Given the description of an element on the screen output the (x, y) to click on. 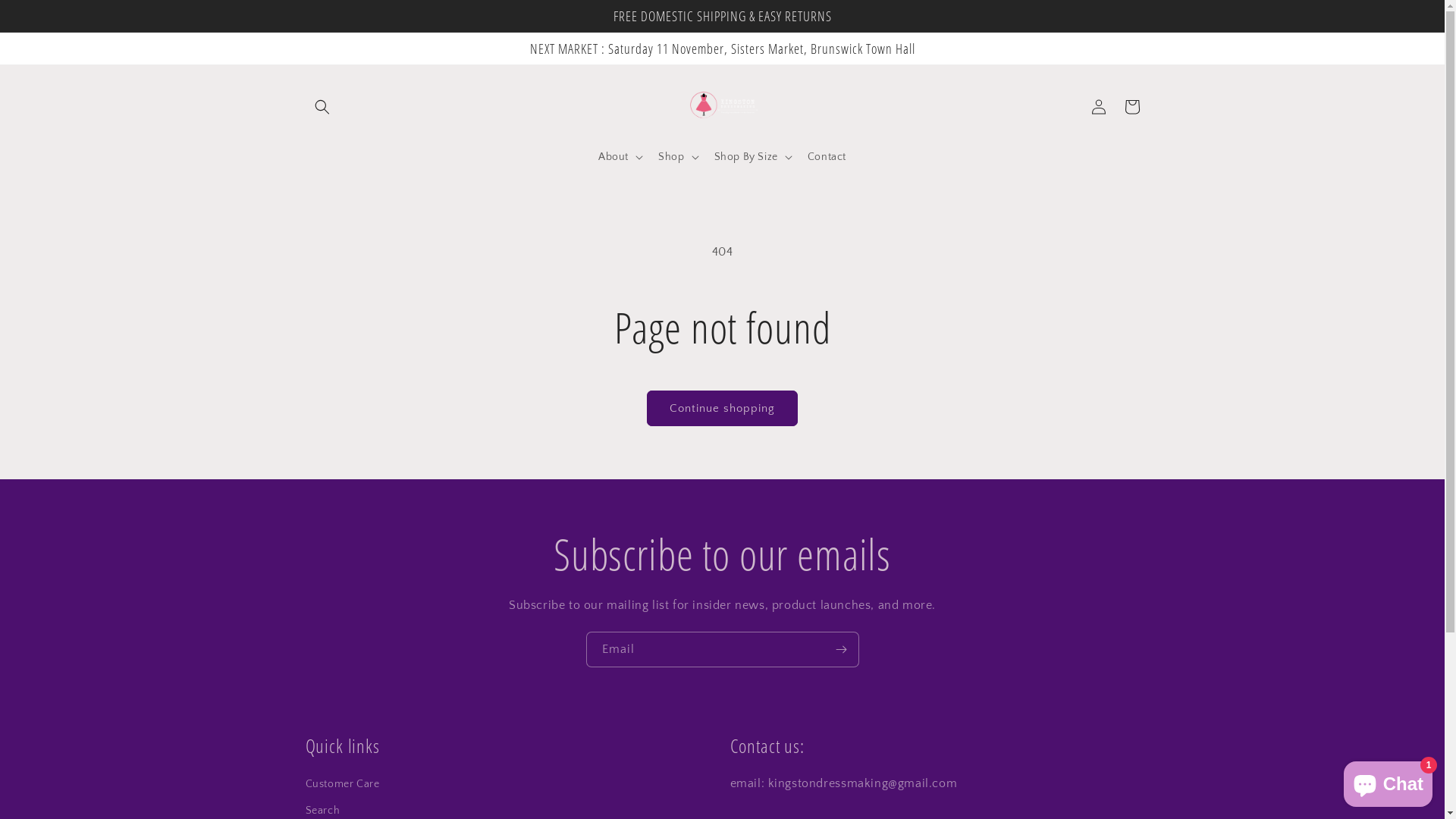
Log in Element type: text (1097, 106)
Shopify online store chat Element type: hover (1388, 780)
Customer Care Element type: text (341, 786)
Cart Element type: text (1131, 106)
Continue shopping Element type: text (721, 408)
Contact Element type: text (826, 156)
